Given the description of an element on the screen output the (x, y) to click on. 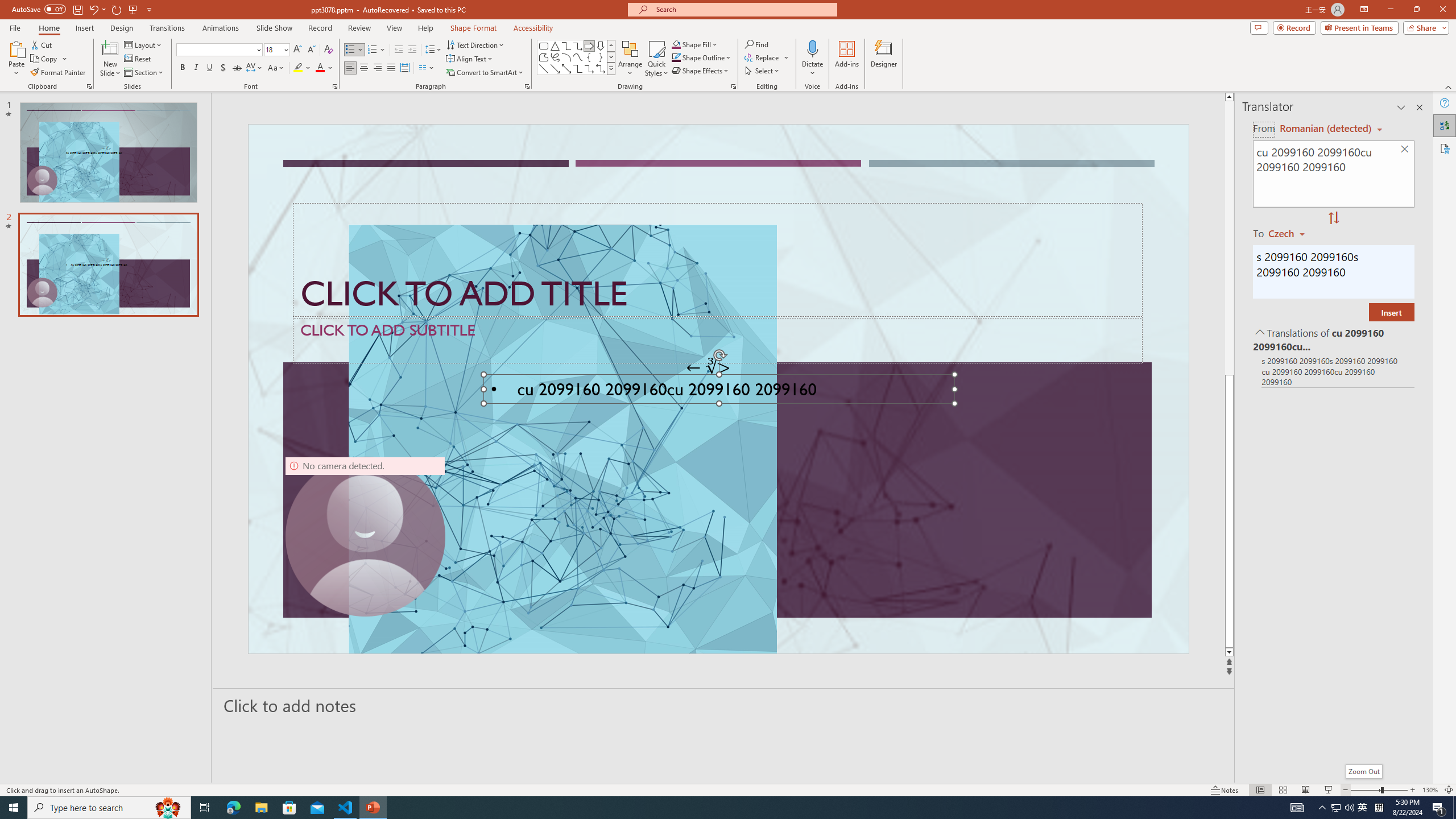
TextBox 7 (708, 367)
